Given the description of an element on the screen output the (x, y) to click on. 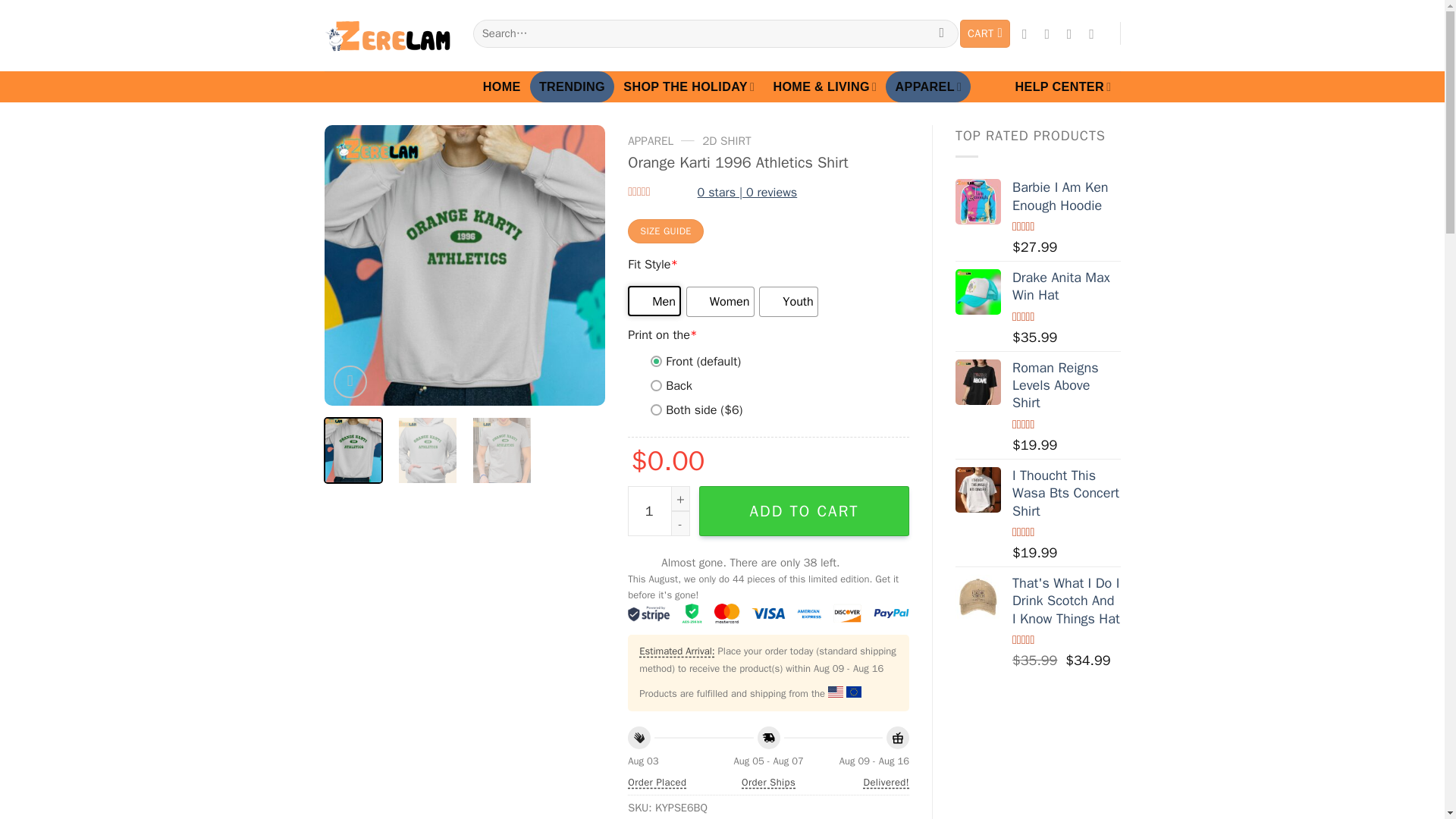
Zerelam - Best Clothes For Your Family (386, 35)
CART (984, 33)
Drake Anita Max Win Hat (978, 291)
HOME (501, 86)
Cart (984, 33)
Barbie I Am Ken Enough Hoodie (978, 201)
I Thoucht This Wasa Bts Concert Shirt (978, 489)
SHOP THE HOLIDAY (688, 86)
Roman Reigns Levels Above Shirt (978, 381)
1 (658, 511)
Search (941, 33)
Orange Karti 1996 Athletics Shirt (464, 264)
APPAREL (928, 86)
TRENDING (571, 86)
